Given the description of an element on the screen output the (x, y) to click on. 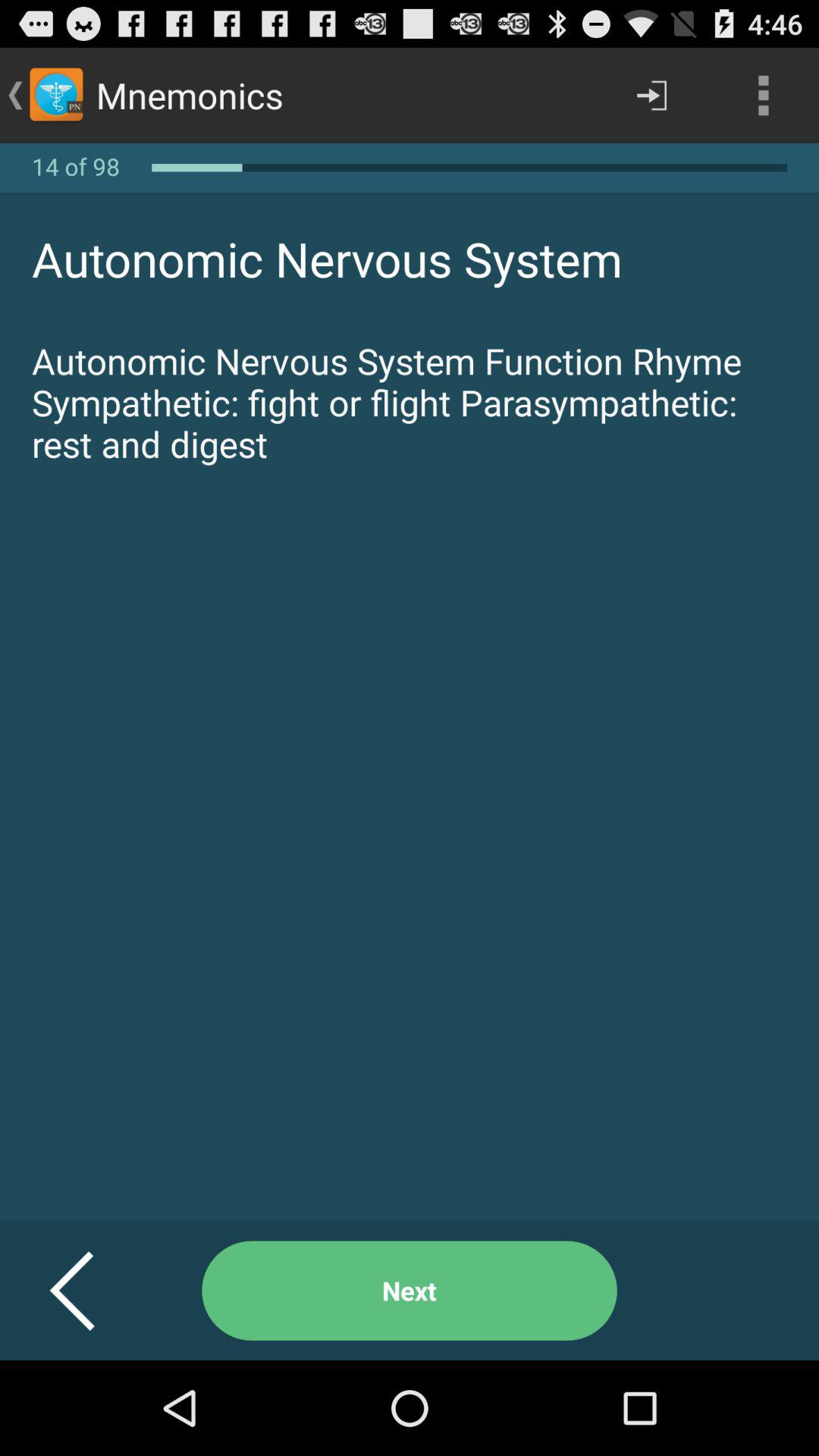
open next (409, 1290)
